Given the description of an element on the screen output the (x, y) to click on. 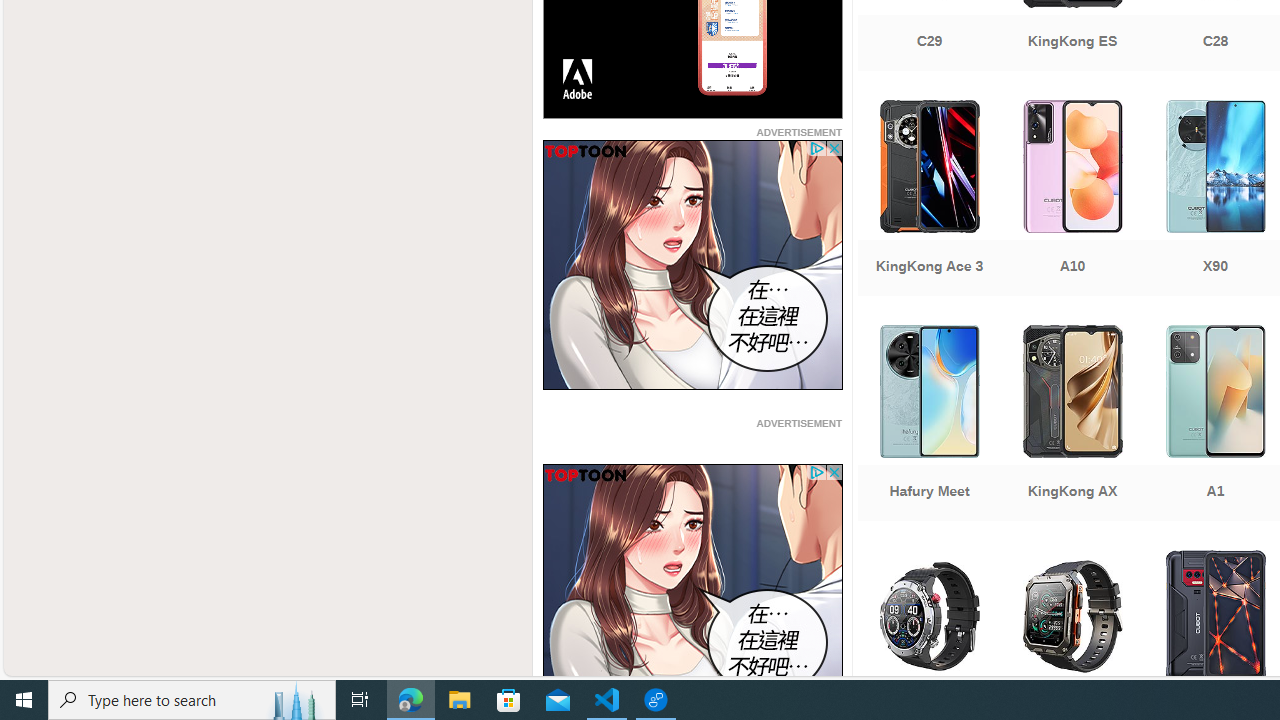
To get missing image descriptions, open the context menu. (692, 588)
A10 (1072, 200)
Hafury Meet (928, 425)
Class: privacy_out (815, 472)
KingKong AX (1072, 425)
